Given the description of an element on the screen output the (x, y) to click on. 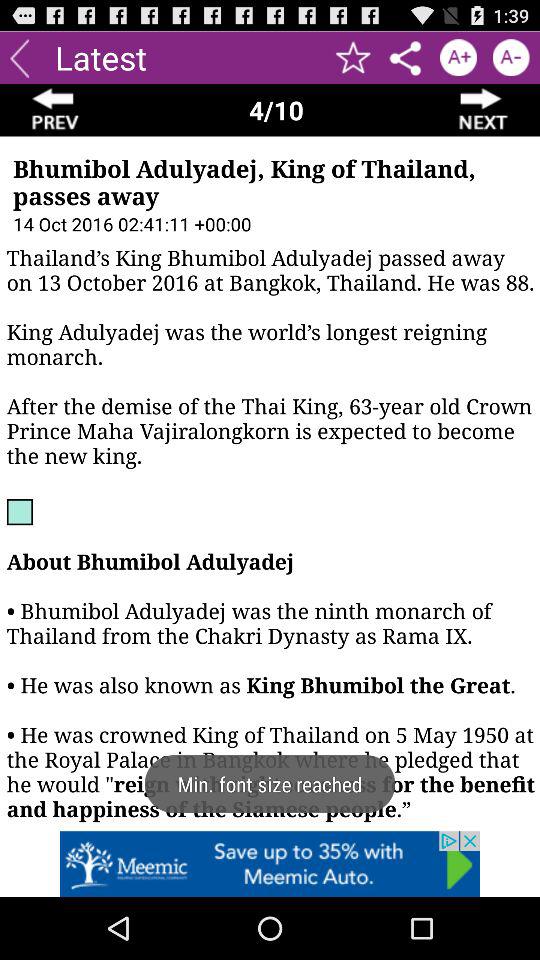
share the article (405, 57)
